Given the description of an element on the screen output the (x, y) to click on. 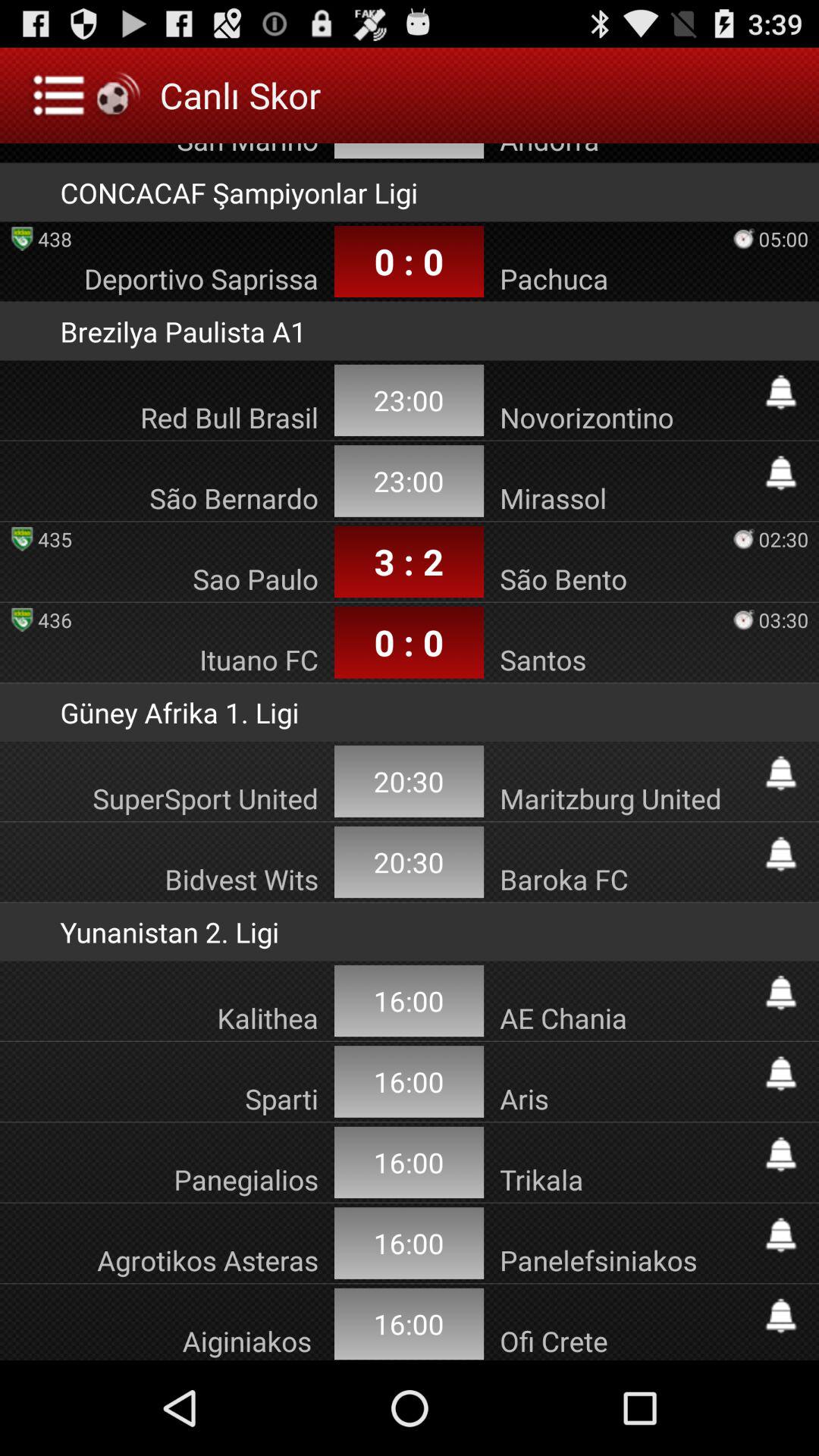
go to subscride (780, 992)
